Given the description of an element on the screen output the (x, y) to click on. 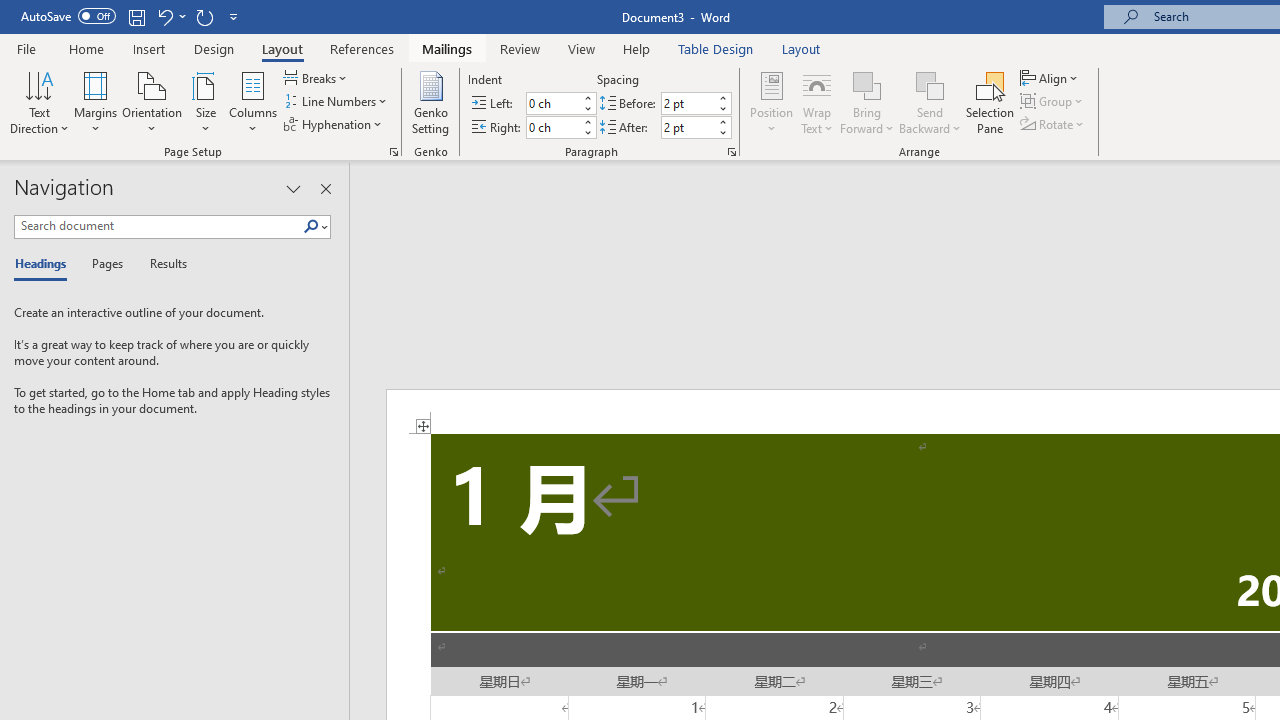
Help (637, 48)
Mailings (447, 48)
Layout (801, 48)
Quick Access Toolbar (131, 16)
System (10, 11)
More (722, 121)
Save (136, 15)
Review (520, 48)
Design (214, 48)
Text Direction (39, 102)
Align (1051, 78)
Pages (105, 264)
Selection Pane... (990, 102)
AutoSave (68, 16)
Margins (95, 102)
